Given the description of an element on the screen output the (x, y) to click on. 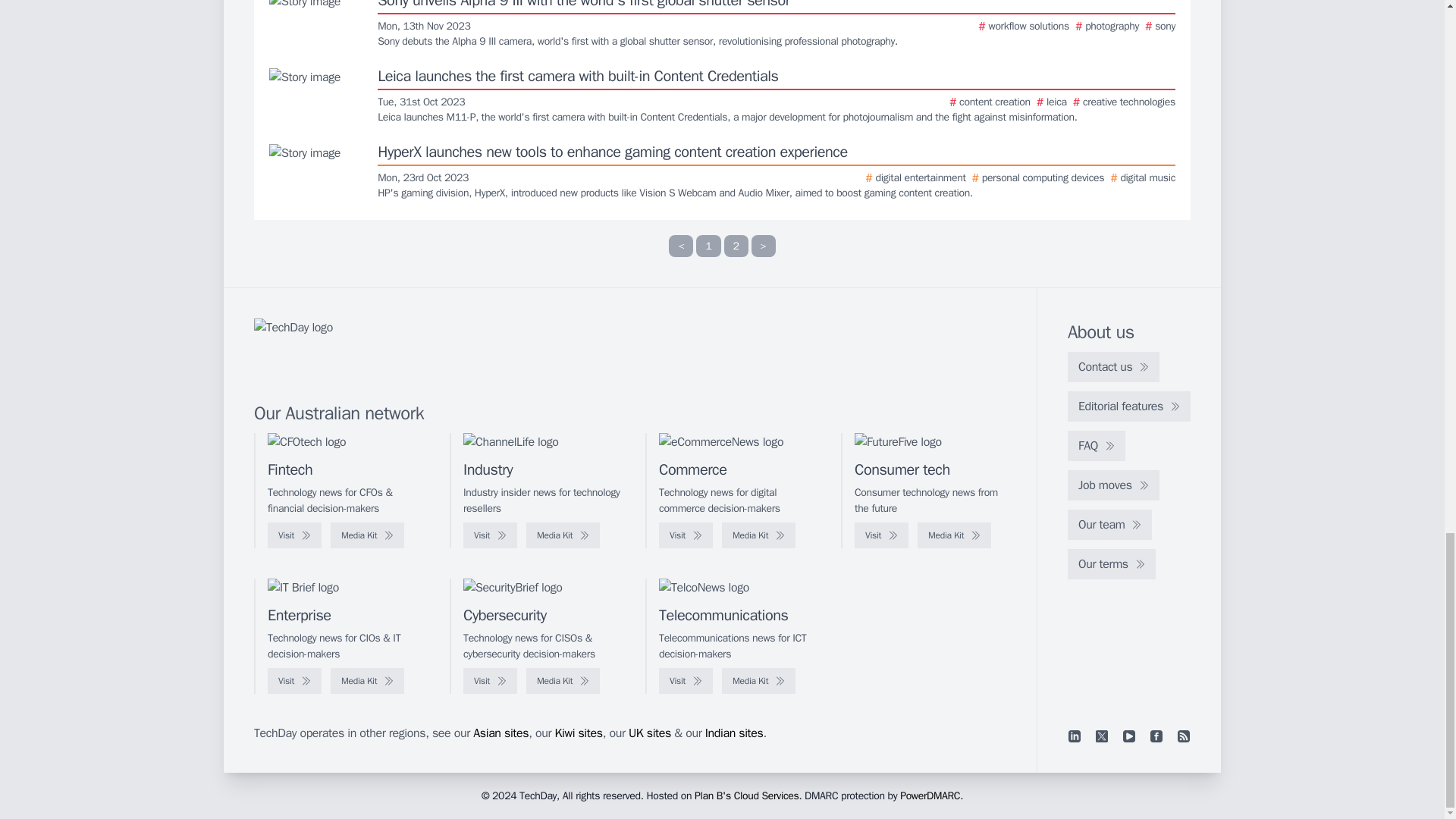
Visit (489, 534)
Visit (881, 534)
Media Kit (758, 534)
1 (707, 246)
Media Kit (954, 534)
Visit (294, 534)
Visit (686, 534)
Media Kit (562, 534)
2 (735, 246)
Media Kit (367, 534)
